Given the description of an element on the screen output the (x, y) to click on. 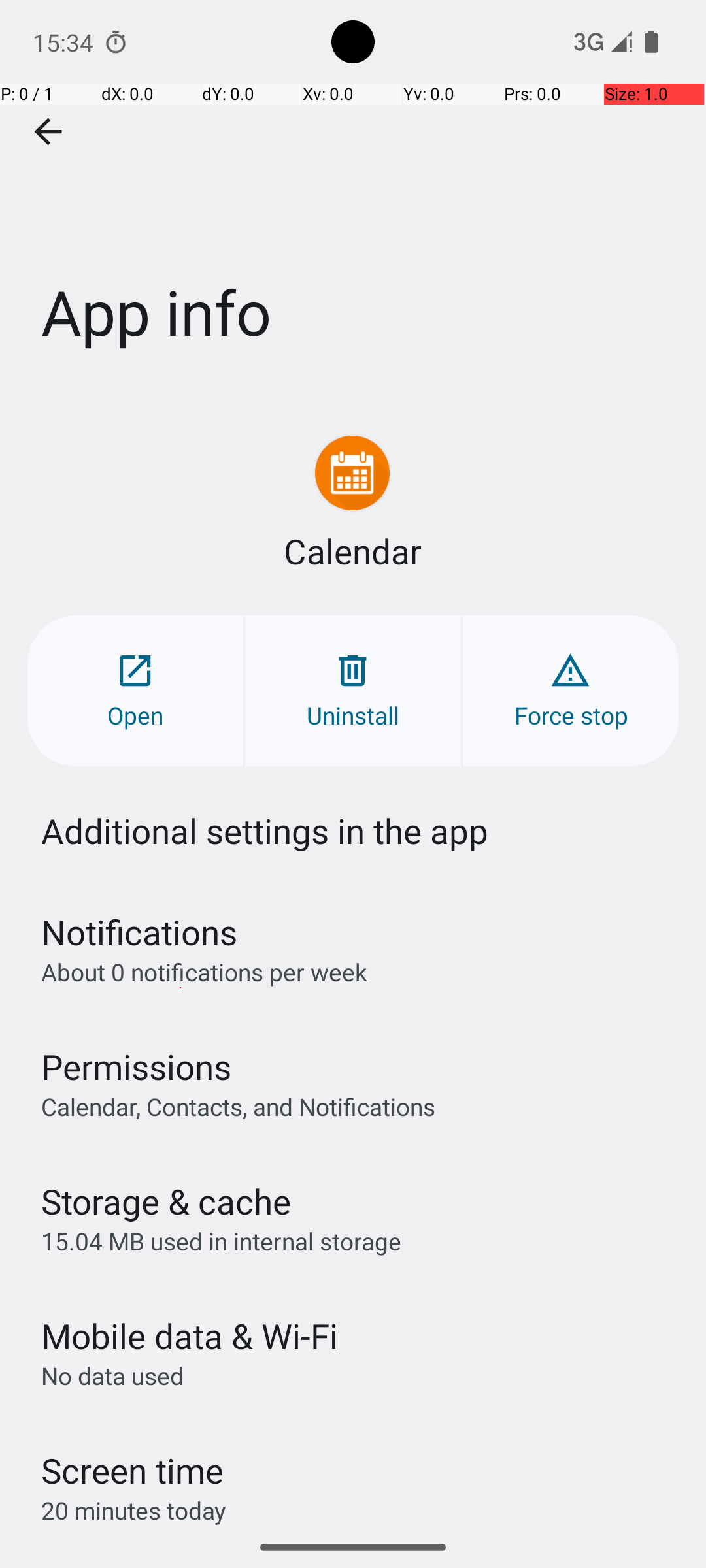
Calendar, Contacts, and Notifications Element type: android.widget.TextView (238, 1106)
15.04 MB used in internal storage Element type: android.widget.TextView (221, 1240)
20 minutes today Element type: android.widget.TextView (133, 1509)
